Given the description of an element on the screen output the (x, y) to click on. 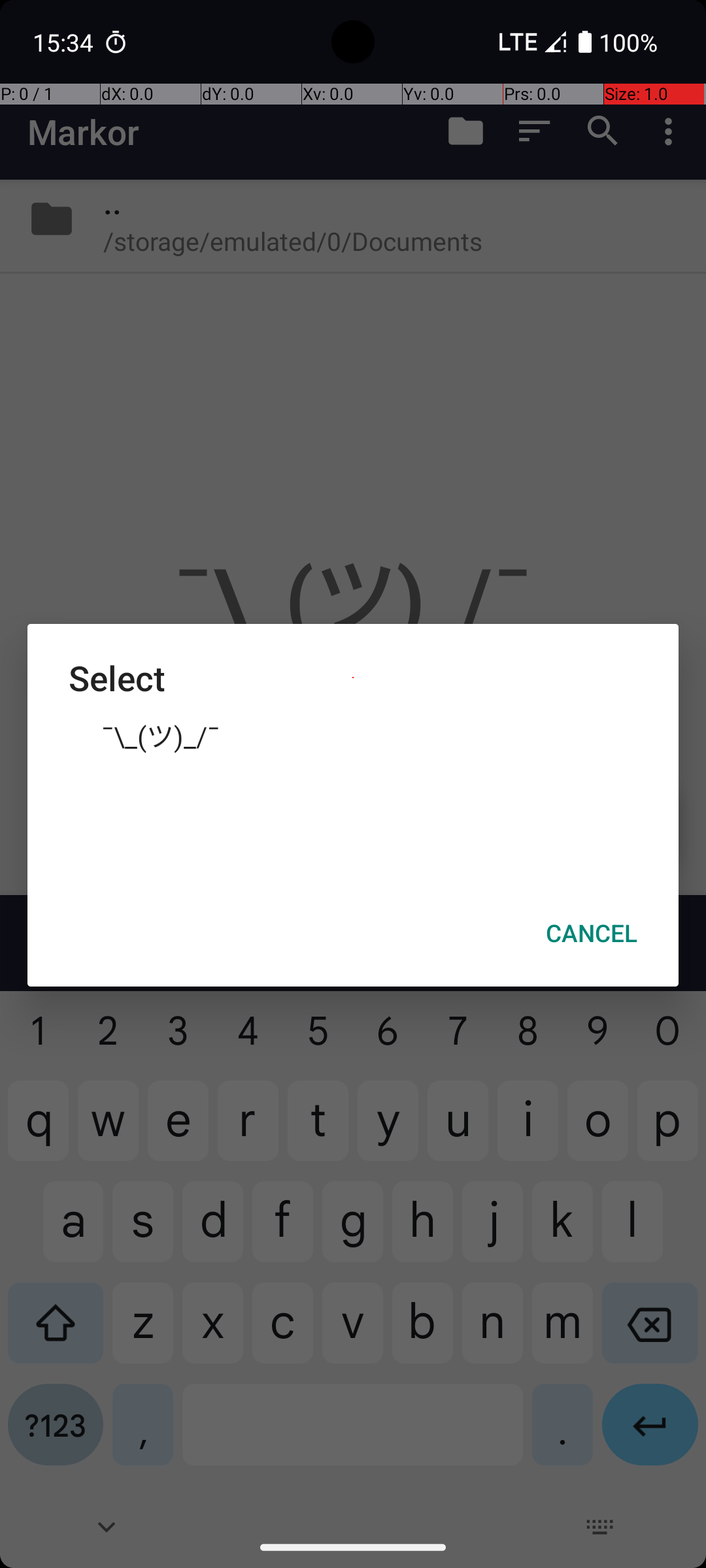
     ¯\_(ツ)_/¯      Element type: android.widget.TextView (352, 734)
